Given the description of an element on the screen output the (x, y) to click on. 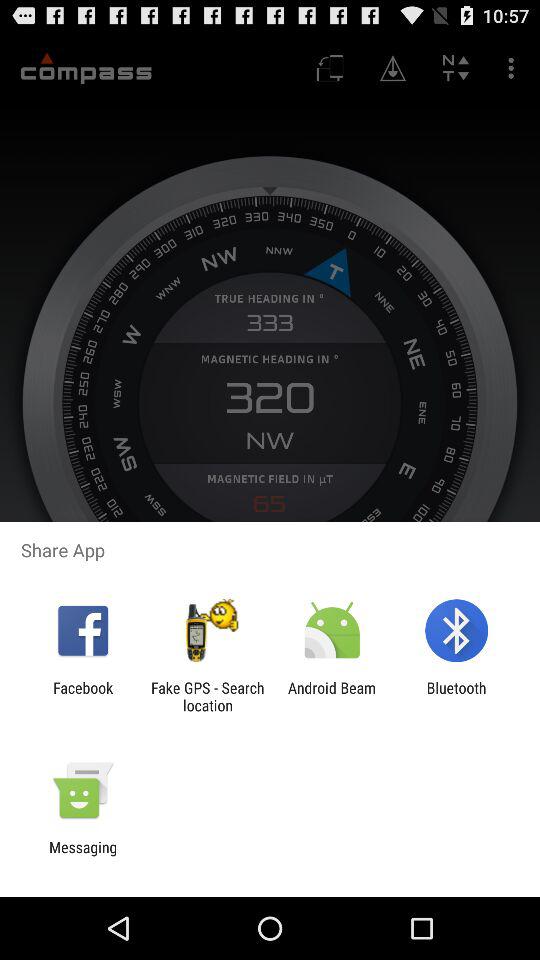
open the item next to android beam (207, 696)
